Given the description of an element on the screen output the (x, y) to click on. 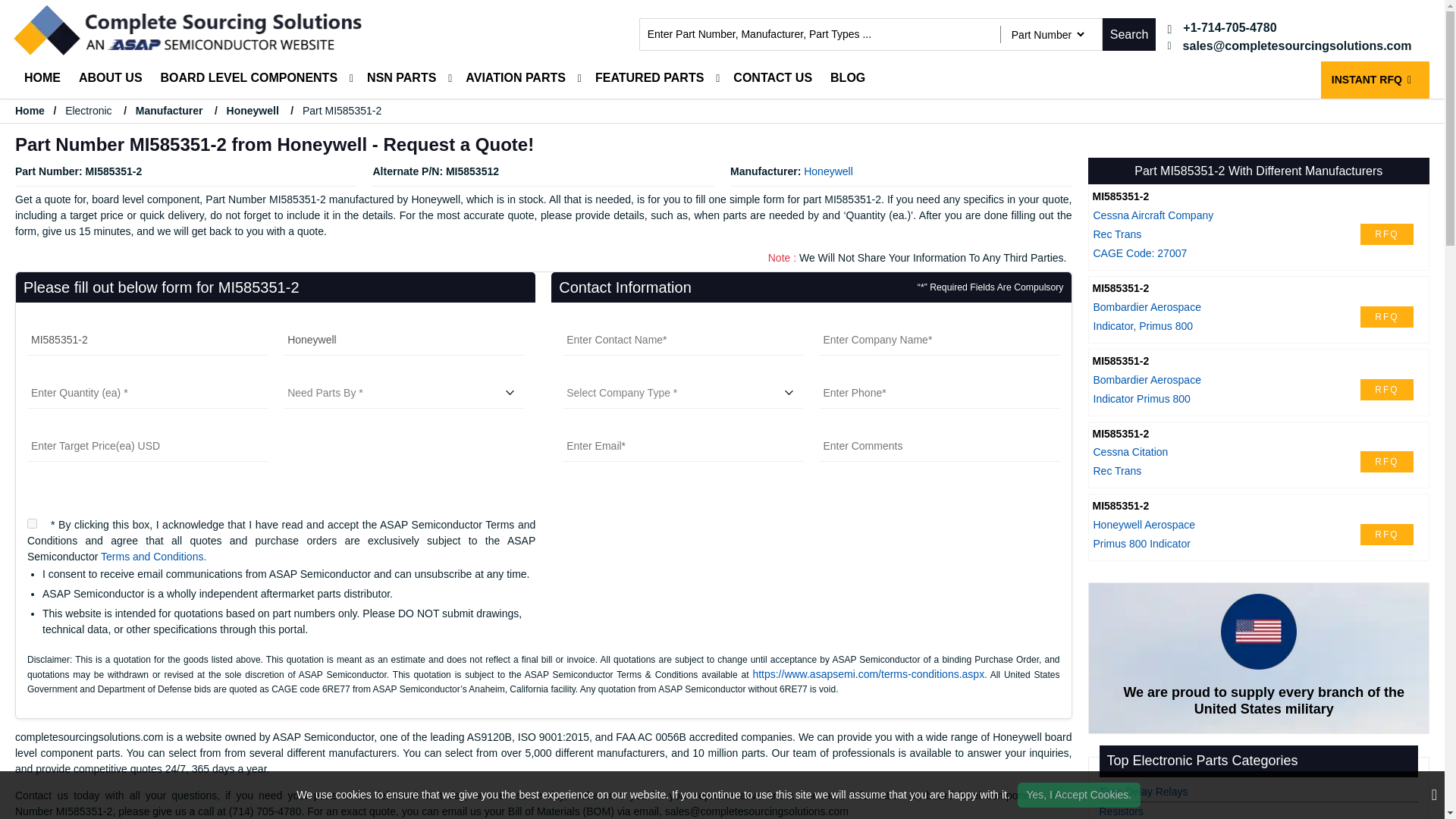
on (32, 523)
  SUBMIT (852, 530)
HOME (41, 78)
NSN PARTS (401, 78)
Manufacturer (169, 110)
Terms and Conditions. (153, 556)
Honeywell (253, 110)
CONTACT US (772, 78)
Honeywell (403, 340)
AVIATION PARTS (516, 78)
